Given the description of an element on the screen output the (x, y) to click on. 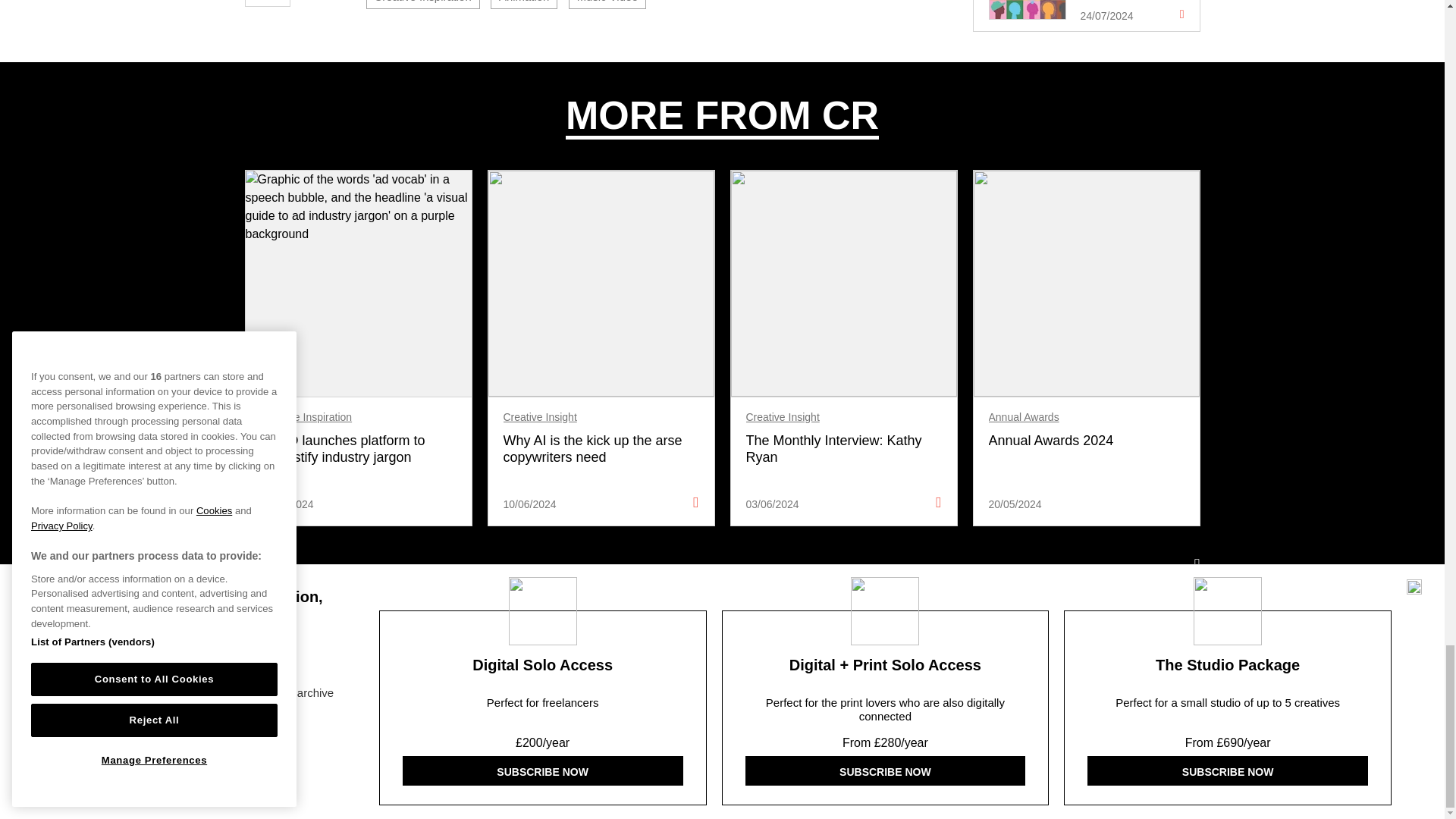
Animation (523, 4)
Music Video (607, 4)
Creative Inspiration (422, 4)
